Given the description of an element on the screen output the (x, y) to click on. 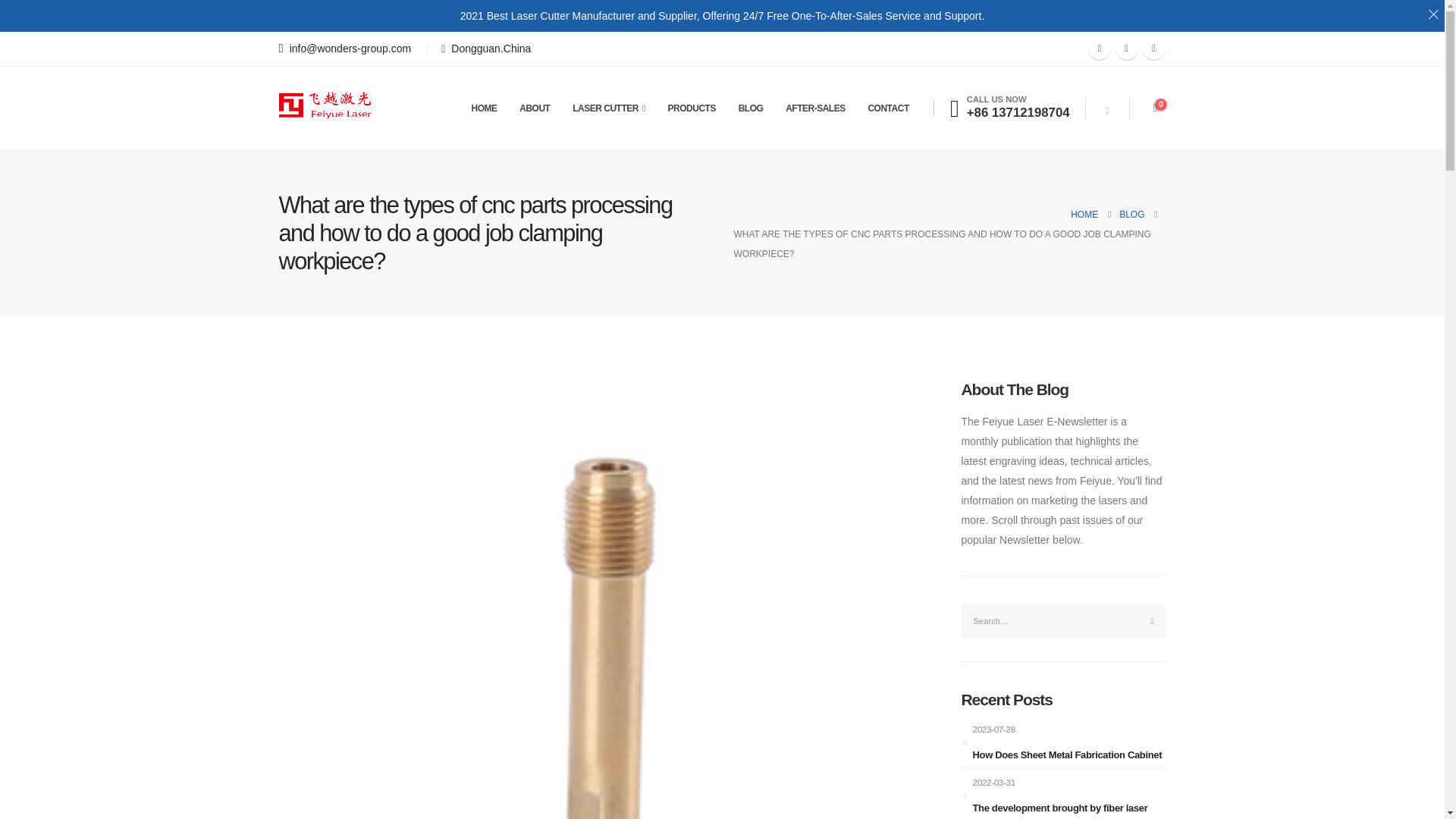
LASER CUTTER (609, 107)
LinkedIn (1152, 47)
Go to Home Page (1083, 214)
Dongguan.China (484, 47)
HOME (1083, 214)
AFTER-SALES (815, 107)
BLOG (1131, 214)
Facebook (1098, 47)
Twitter (1126, 47)
